Given the description of an element on the screen output the (x, y) to click on. 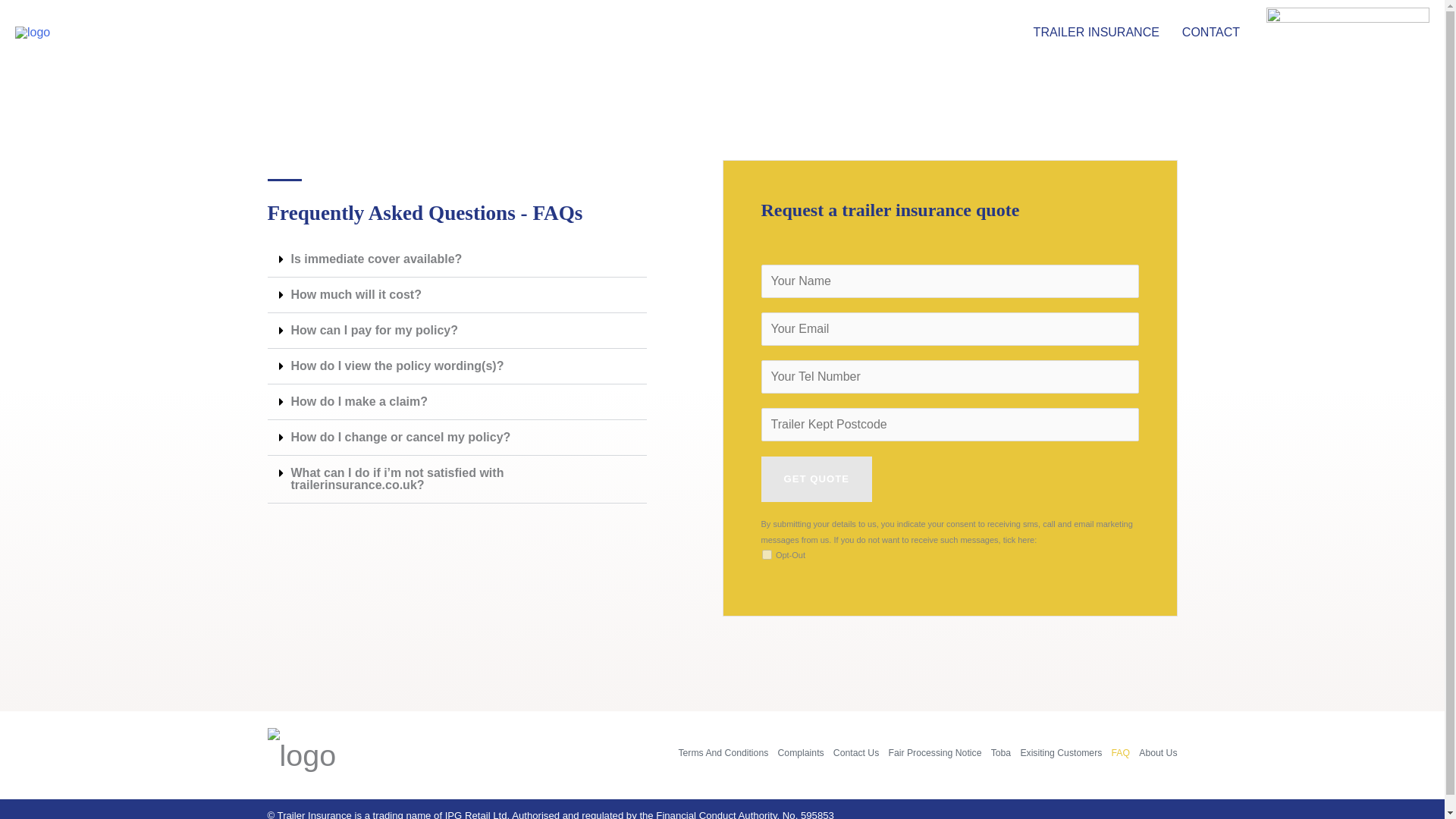
Is immediate cover available? (377, 258)
How much will it cost? (356, 294)
About Us (1155, 754)
How can I pay for my policy? (374, 329)
CONTACT (1210, 32)
Complaints (800, 754)
How do I make a claim? (359, 400)
FAQ (1120, 754)
Exisiting Customers (1060, 754)
Fair Processing Notice (934, 754)
